Given the description of an element on the screen output the (x, y) to click on. 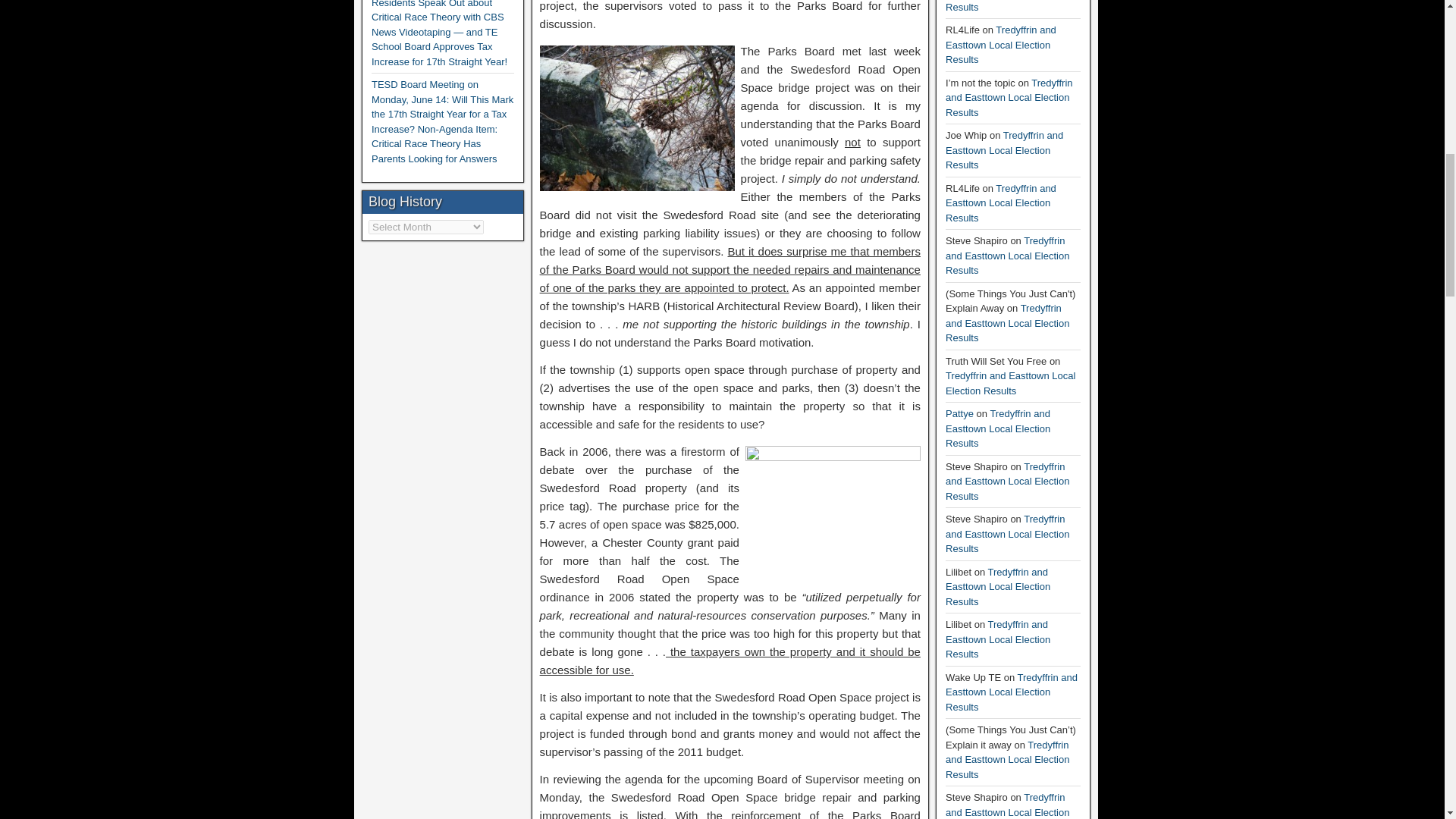
Swedesford Road bridge close up 2 (637, 118)
Swedesford Road park guard rail (832, 511)
